Given the description of an element on the screen output the (x, y) to click on. 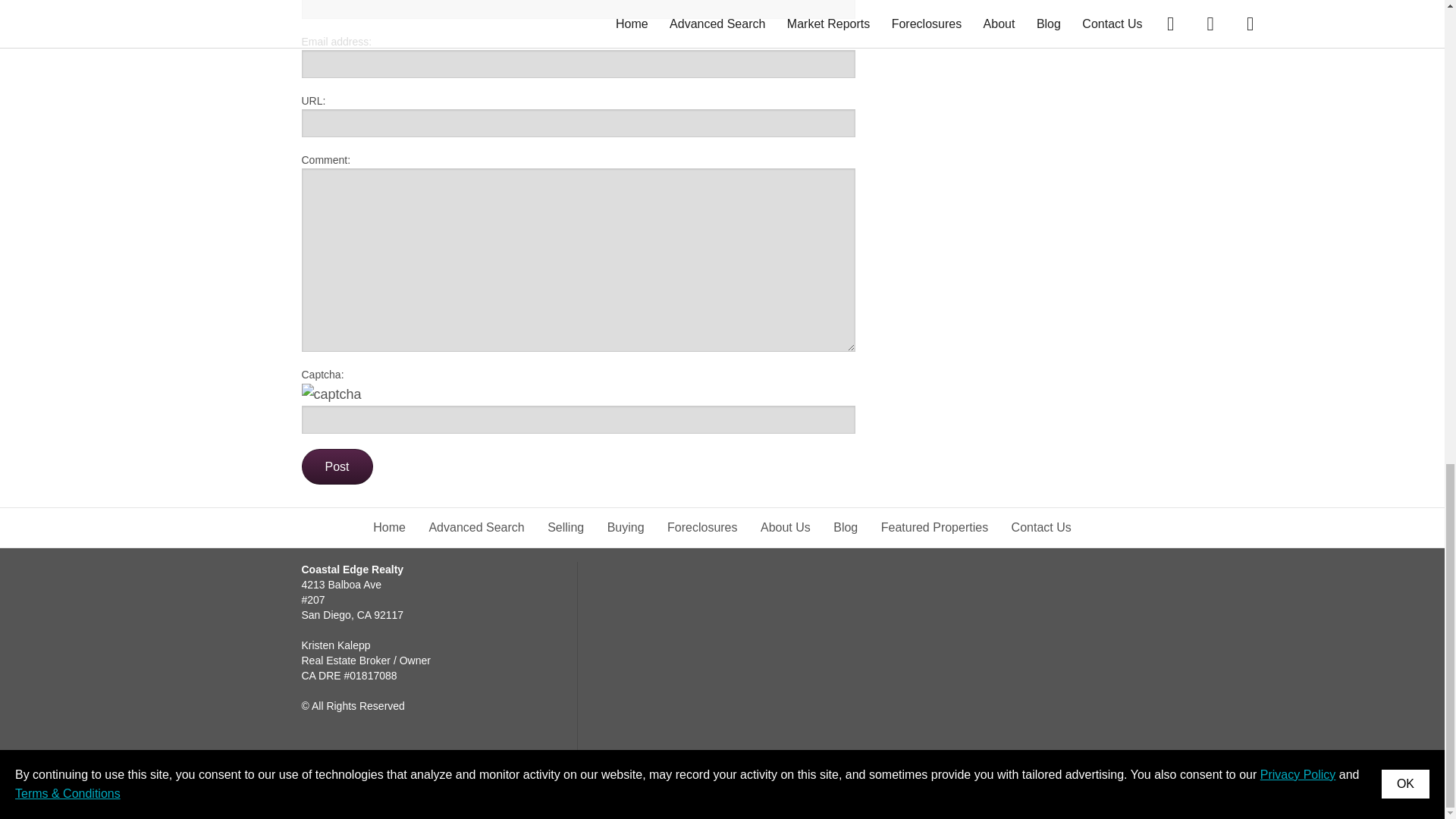
Post (336, 466)
Post (336, 466)
